Given the description of an element on the screen output the (x, y) to click on. 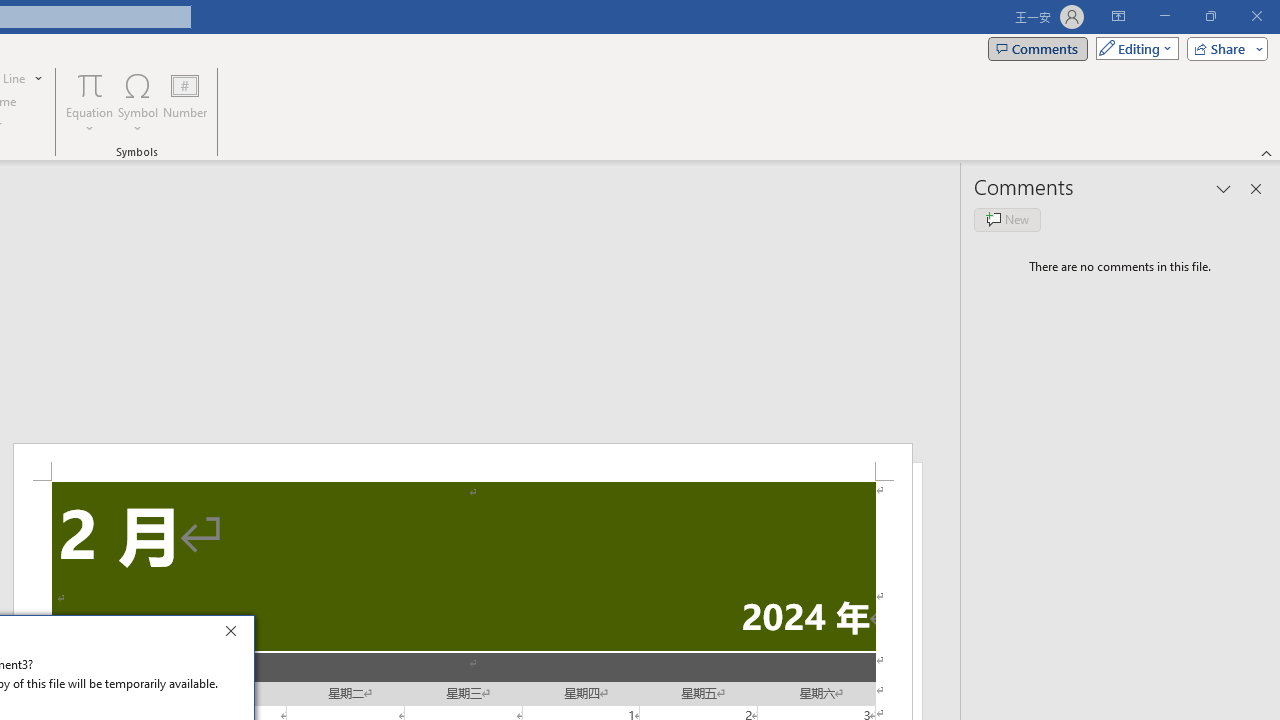
New comment (1007, 219)
Number... (185, 102)
Symbol (138, 102)
Header -Section 2- (462, 461)
